Given the description of an element on the screen output the (x, y) to click on. 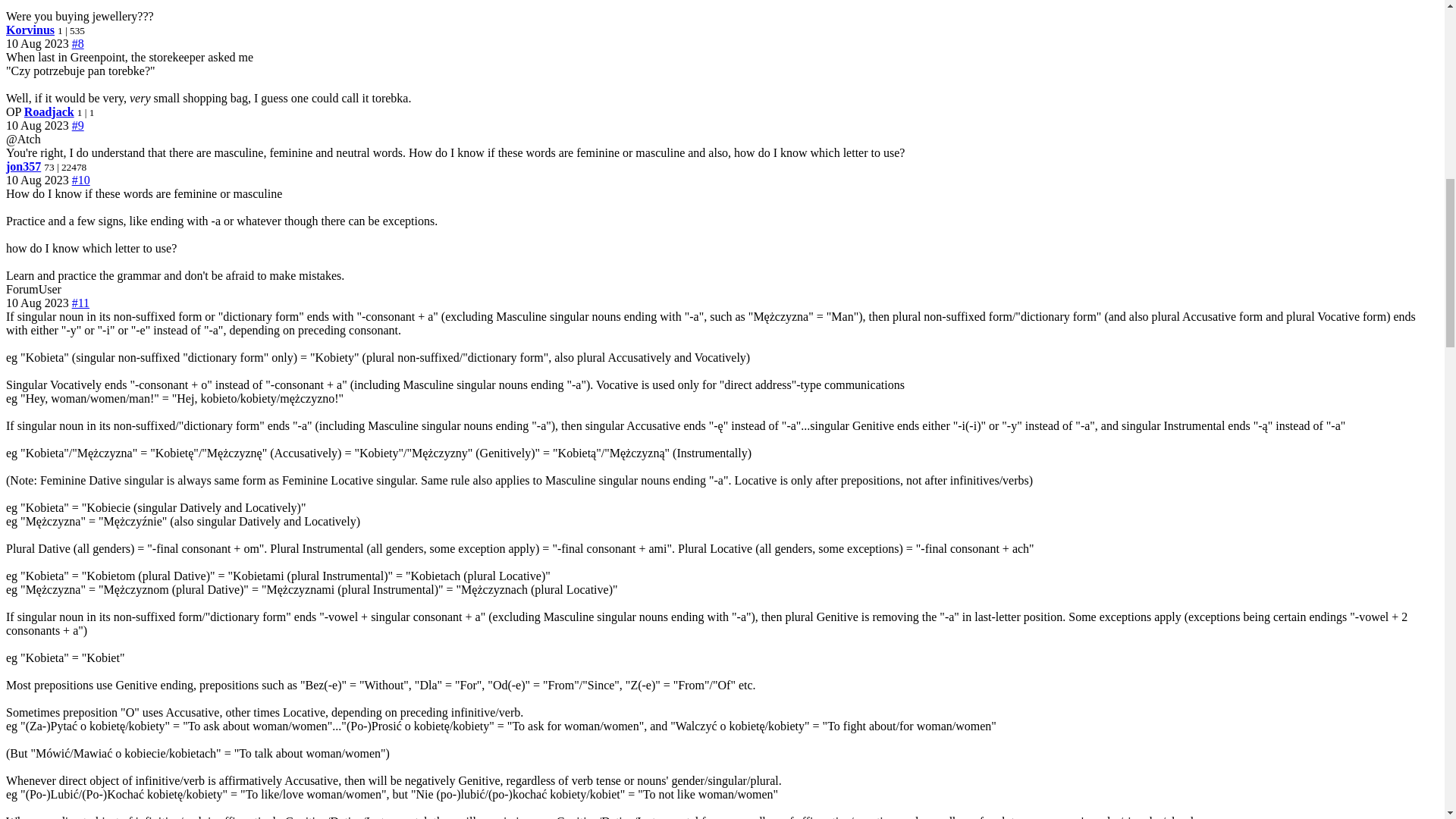
Roadjack (49, 111)
Korvinus (30, 29)
jon357 (22, 165)
